Given the description of an element on the screen output the (x, y) to click on. 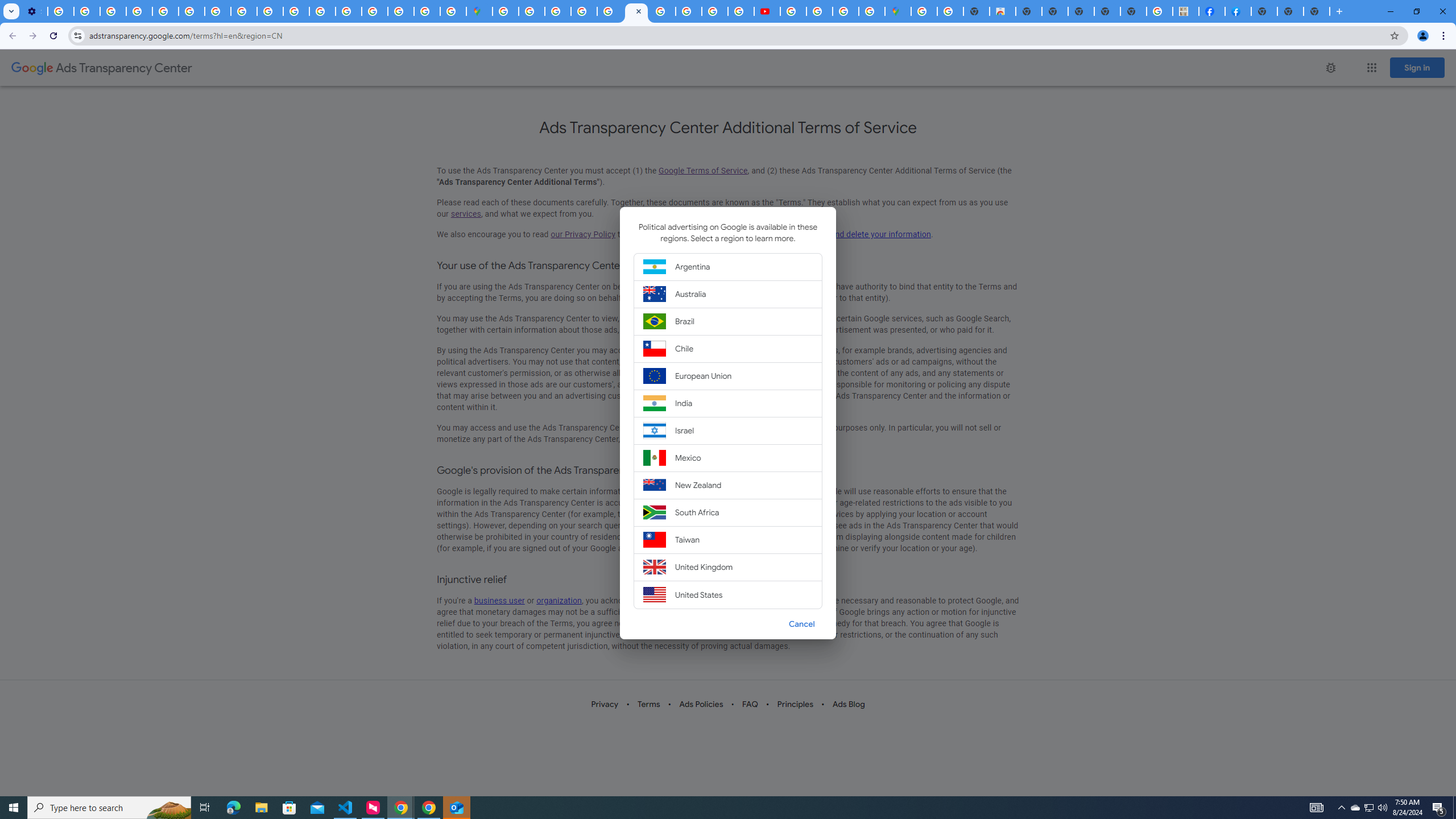
New Tab (1316, 11)
Brazil (727, 321)
United Kingdom (727, 567)
Subscriptions - YouTube (766, 11)
Chile (727, 348)
Send Bug Report (1330, 67)
business user (499, 601)
Privacy Help Center - Policies Help (165, 11)
